Given the description of an element on the screen output the (x, y) to click on. 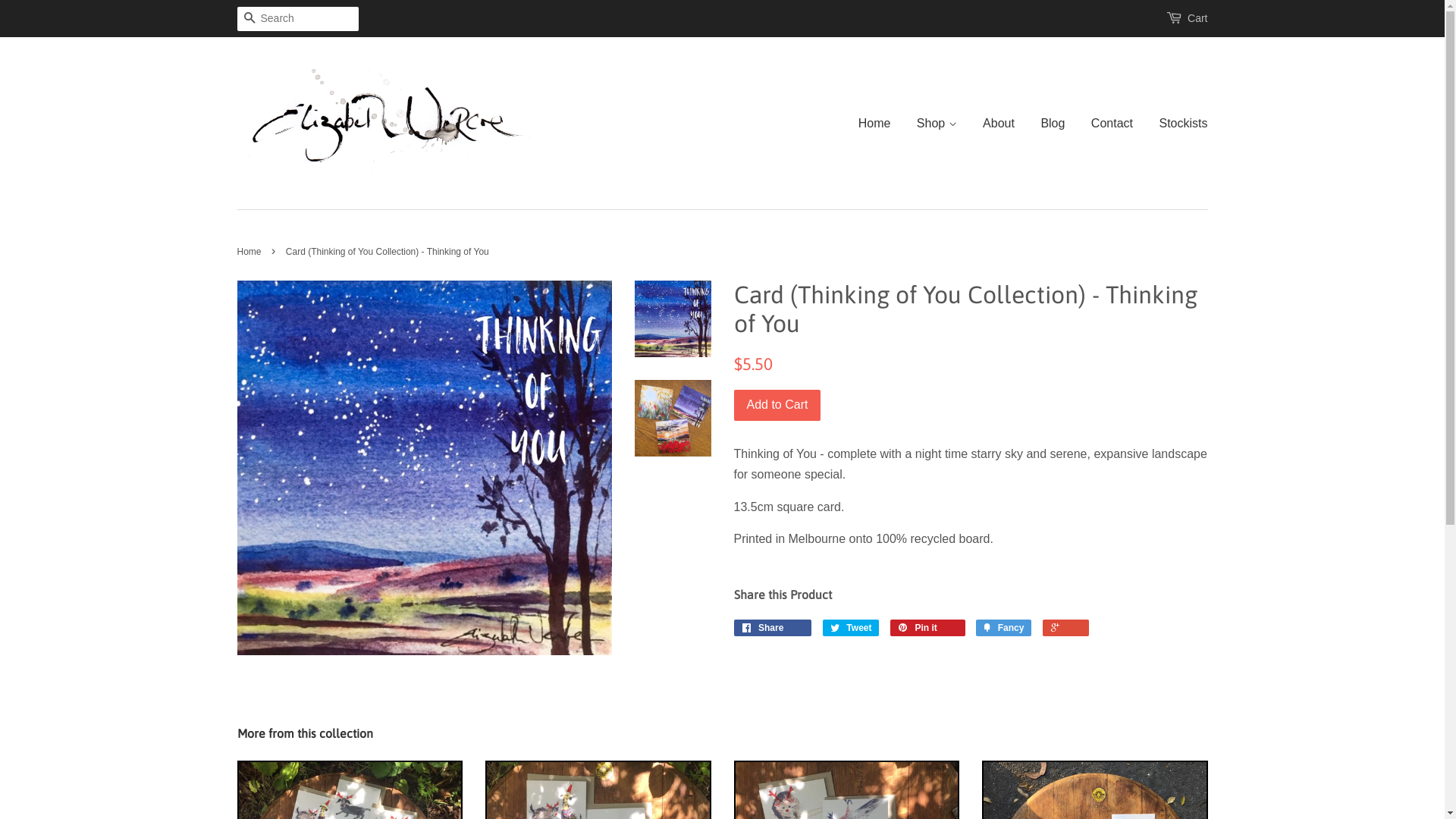
Home Element type: text (880, 122)
Home Element type: text (250, 251)
About Element type: text (998, 122)
Stockists Element type: text (1177, 122)
Fancy Element type: text (1003, 627)
Search Element type: text (248, 18)
Add to Cart Element type: text (777, 404)
Shop Element type: text (936, 122)
Pin it Element type: text (927, 627)
Cart Element type: text (1197, 18)
Tweet Element type: text (850, 627)
Contact Element type: text (1111, 122)
Blog Element type: text (1052, 122)
Share Element type: text (773, 627)
